Given the description of an element on the screen output the (x, y) to click on. 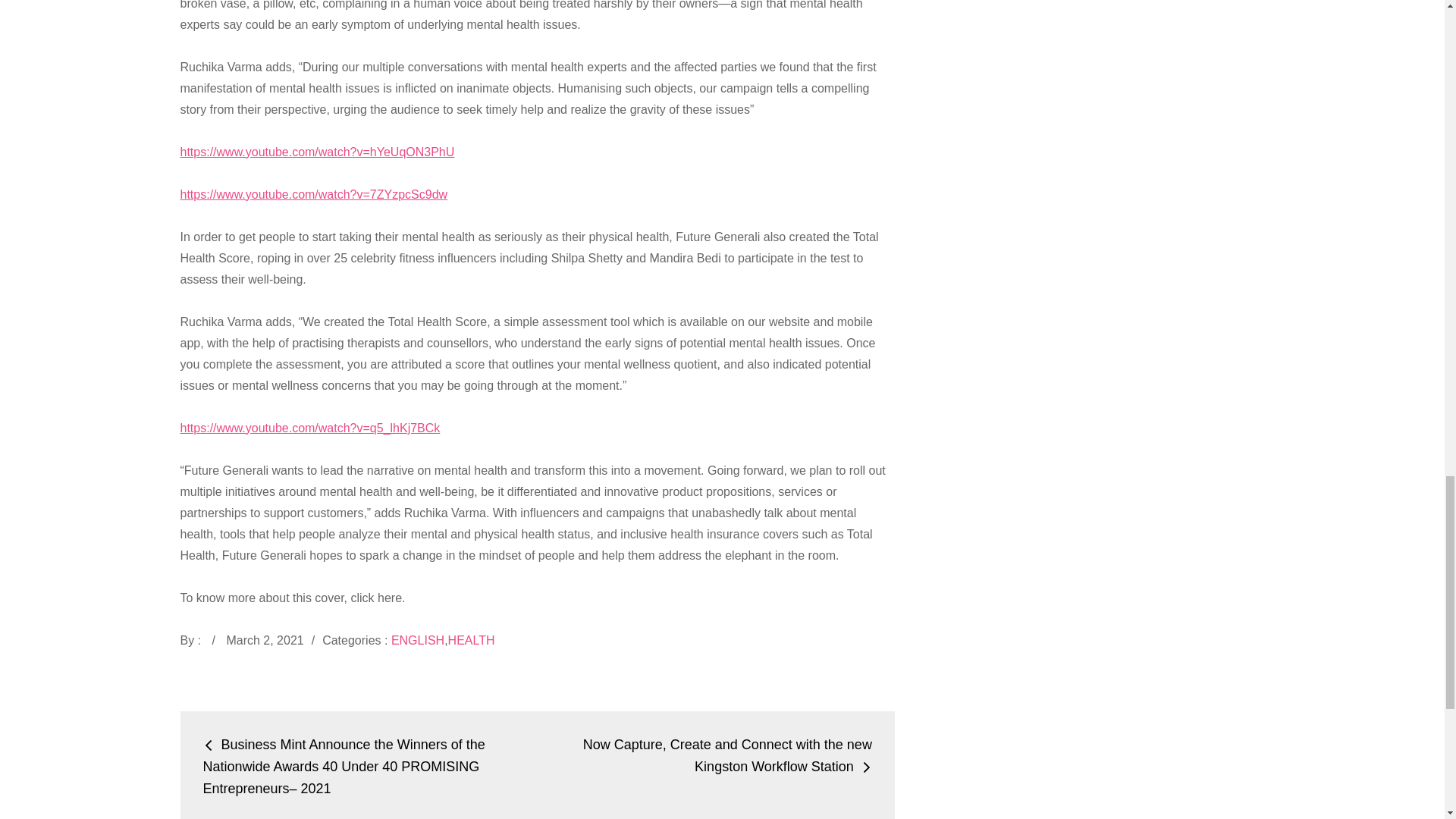
March 2, 2021 (263, 640)
HEALTH (471, 640)
ENGLISH (417, 640)
